Given the description of an element on the screen output the (x, y) to click on. 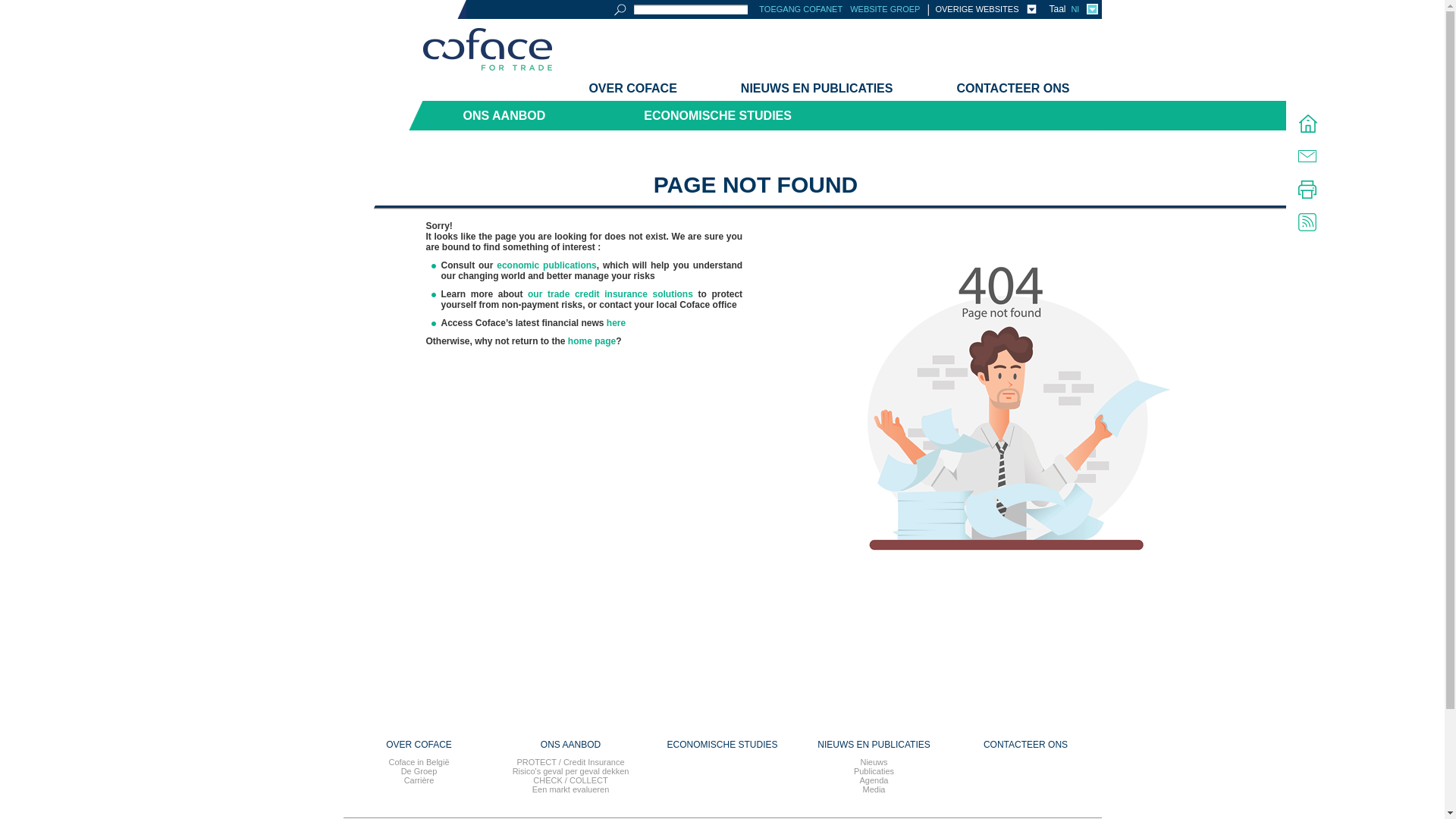
Coface Element type: hover (487, 50)
Risico's geval per geval dekken Element type: text (570, 770)
CHECK / COLLECT Element type: text (570, 779)
De Groep Element type: text (419, 770)
CONTACTEER ONS Element type: text (1012, 88)
PROTECT / Credit Insurance Element type: text (570, 761)
NIEUWS EN PUBLICATIES Element type: text (873, 744)
Errors Element type: hover (1007, 459)
Een markt evalueren Element type: text (570, 788)
ECONOMISCHE STUDIES Element type: text (717, 115)
NIEUWS EN PUBLICATIES Element type: text (816, 88)
our trade credit insurance solutions Element type: text (610, 293)
home page Element type: text (591, 340)
here Element type: text (615, 322)
OVER COFACE Element type: text (418, 744)
ONS AANBOD Element type: text (570, 744)
Agenda Element type: text (873, 779)
Nieuws Element type: text (873, 761)
WEBSITE GROEP Element type: text (884, 9)
OVER COFACE Element type: text (632, 88)
Media Element type: text (873, 788)
Publicaties Element type: text (873, 770)
TOEGANG COFANET Element type: text (800, 9)
economic publications Element type: text (546, 265)
ECONOMISCHE STUDIES Element type: text (721, 744)
CONTACTEER ONS Element type: text (1025, 744)
ONS AANBOD Element type: text (500, 115)
Contacteer ons Element type: hover (1306, 155)
